Given the description of an element on the screen output the (x, y) to click on. 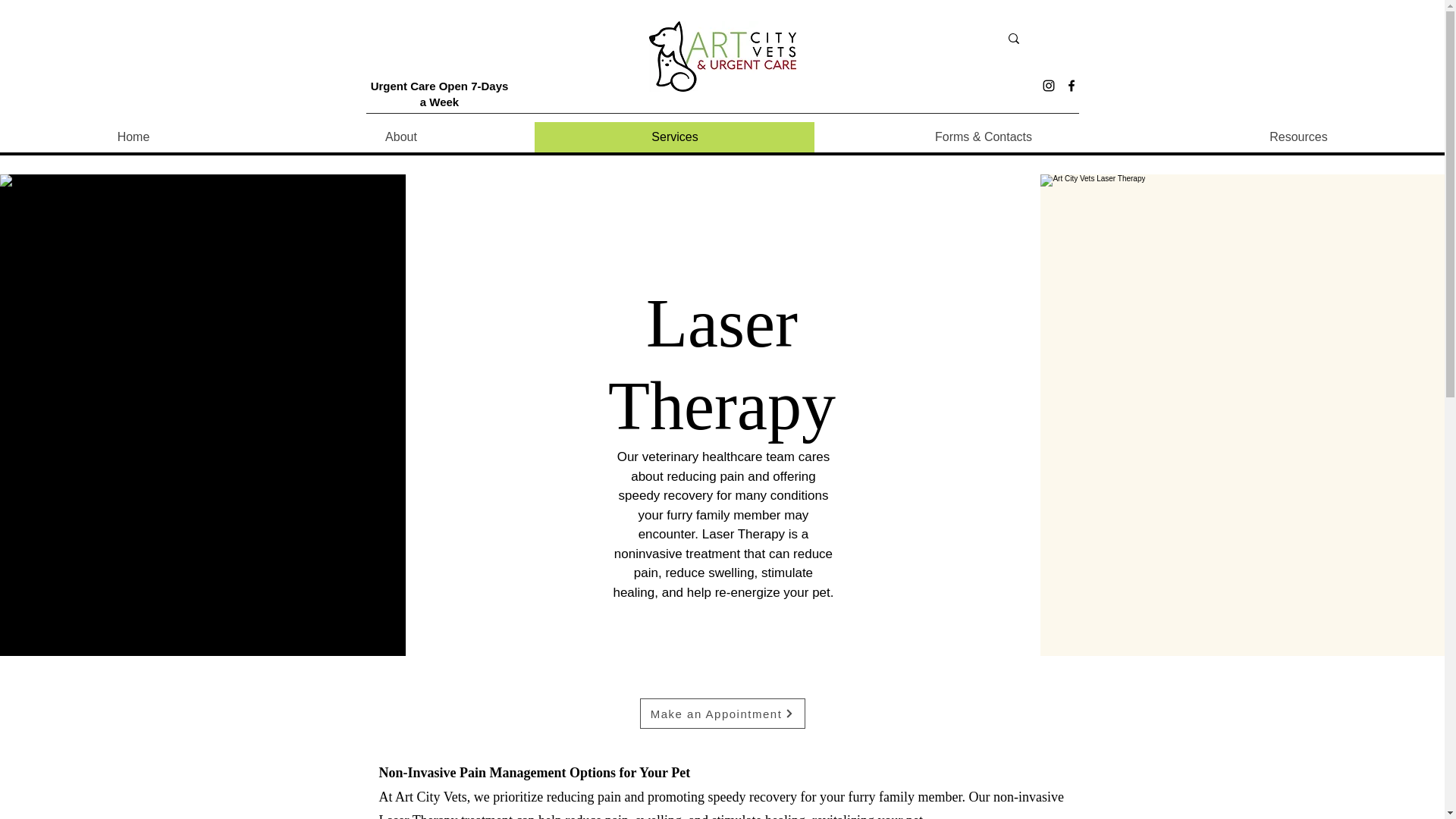
Services (673, 137)
About (400, 137)
Home (133, 137)
Make an Appointment (722, 713)
